Given the description of an element on the screen output the (x, y) to click on. 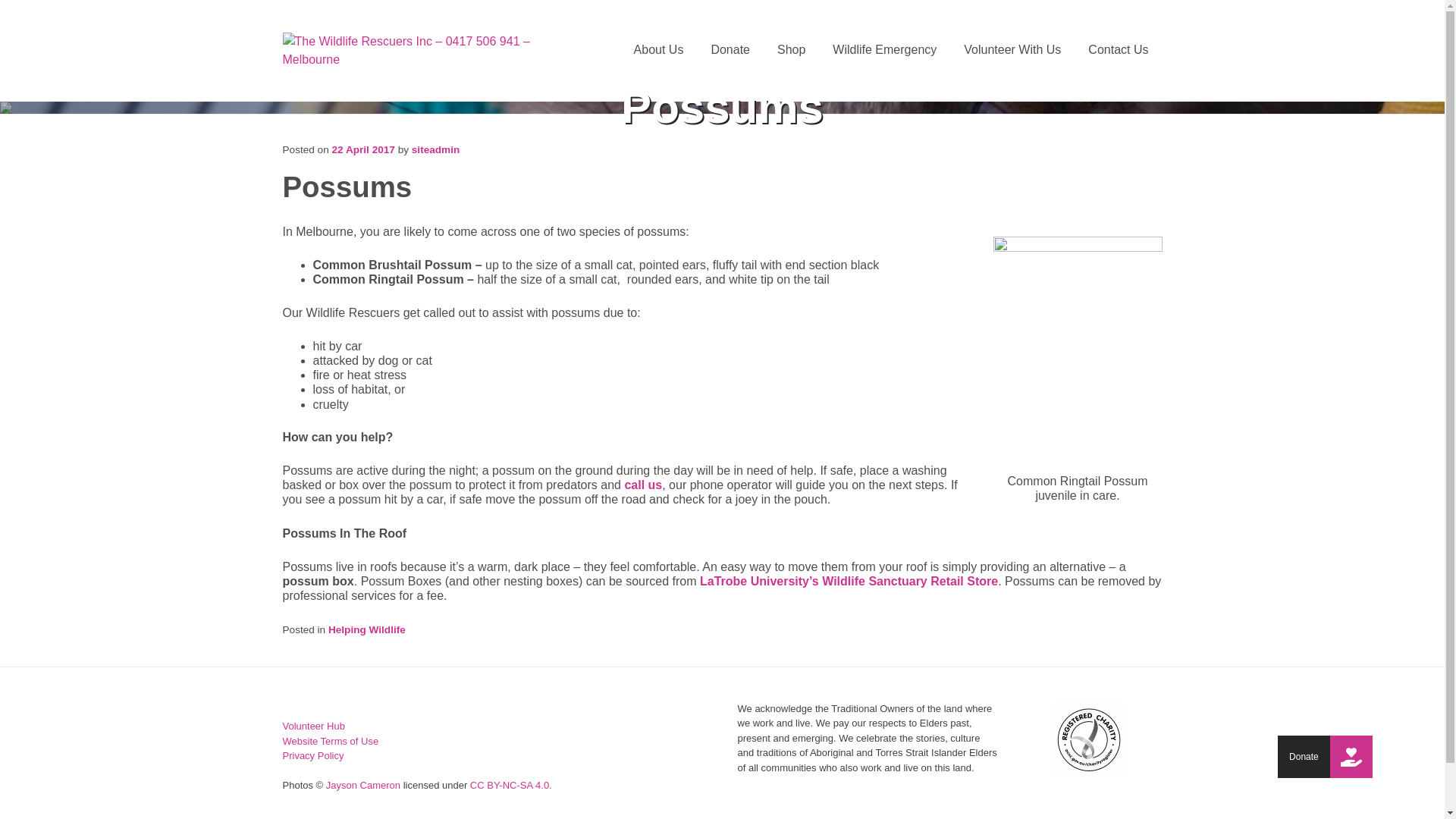
Contact Us Element type: text (1117, 50)
Jayson Cameron Element type: text (363, 784)
call us Element type: text (643, 484)
Privacy Policy Element type: text (312, 755)
Donate Element type: text (1351, 756)
Volunteer With Us Element type: text (1012, 50)
Helping Wildlife Element type: text (366, 629)
Wildlife Emergency Element type: text (884, 50)
22 April 2017 Element type: text (363, 149)
Donate Element type: text (729, 50)
About Us Element type: text (658, 50)
CC BY-NC-SA 4.0. Element type: text (511, 784)
Shop Element type: text (791, 50)
siteadmin Element type: text (435, 149)
Volunteer Hub Element type: text (313, 725)
Website Terms of Use Element type: text (330, 740)
